Given the description of an element on the screen output the (x, y) to click on. 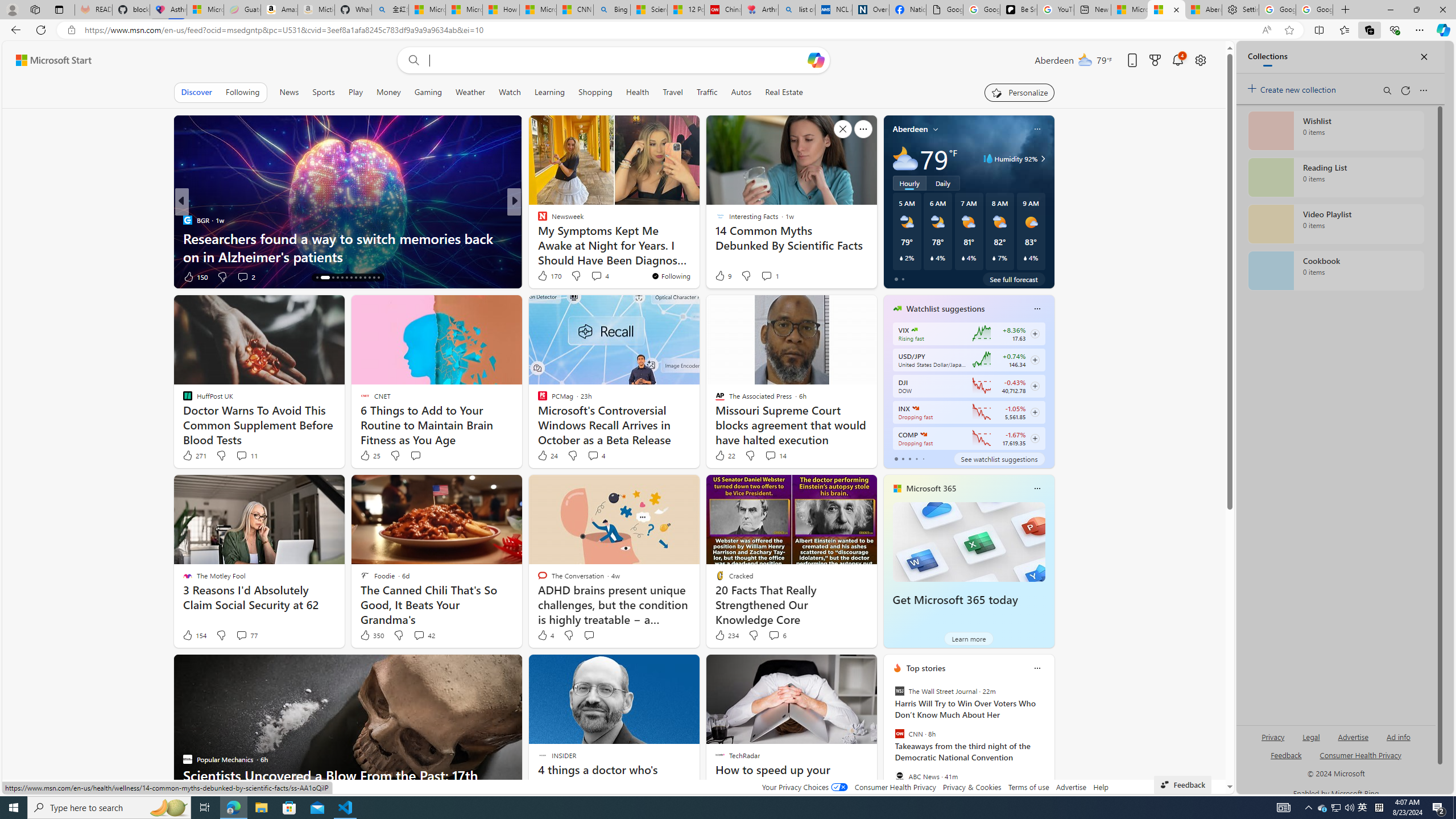
View comments 85 Comment (241, 276)
See full forecast (1013, 278)
234 Like (726, 634)
350 Like (370, 634)
Get Microsoft 365 today (954, 600)
Get Microsoft 365 today (968, 541)
Class: weather-current-precipitation-glyph (1024, 257)
tab-2 (908, 458)
AutomationID: tab-20 (350, 277)
CNN - MSN (574, 9)
